Given the description of an element on the screen output the (x, y) to click on. 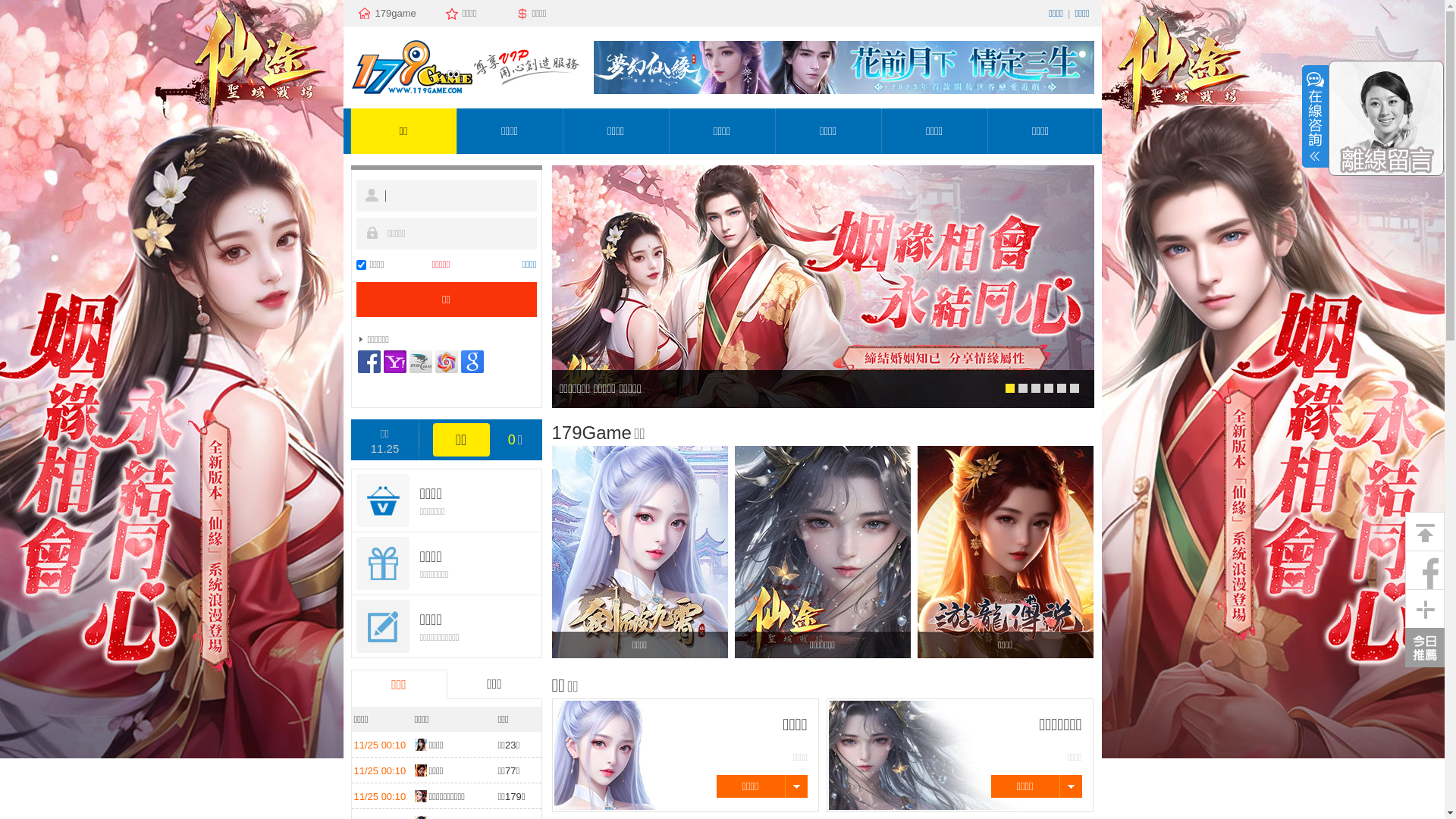
5 Element type: text (1073, 387)
2 Element type: text (1035, 387)
1 Element type: text (1021, 387)
3 Element type: text (1047, 387)
0 Element type: text (1009, 387)
4 Element type: text (1061, 387)
179game Element type: text (393, 13)
